Given the description of an element on the screen output the (x, y) to click on. 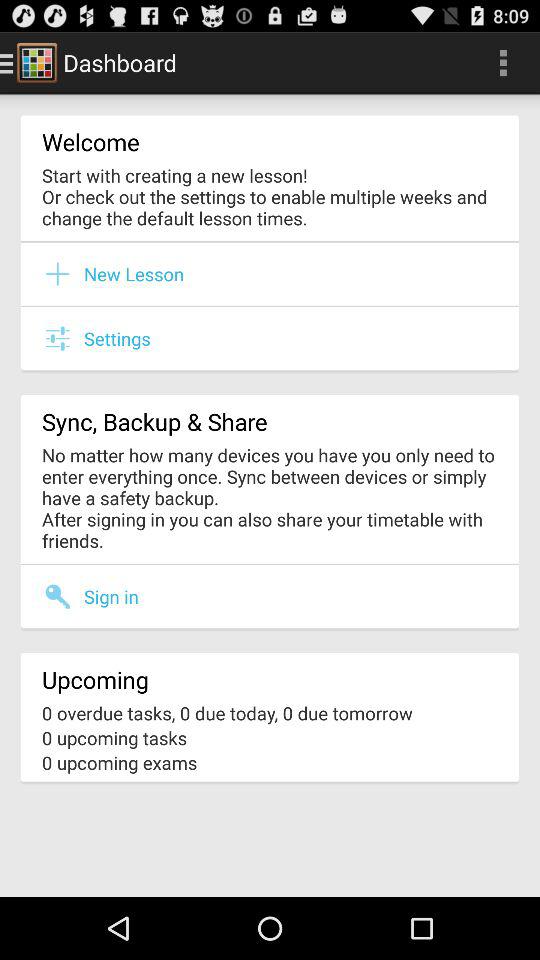
click icon above welcome icon (503, 62)
